Given the description of an element on the screen output the (x, y) to click on. 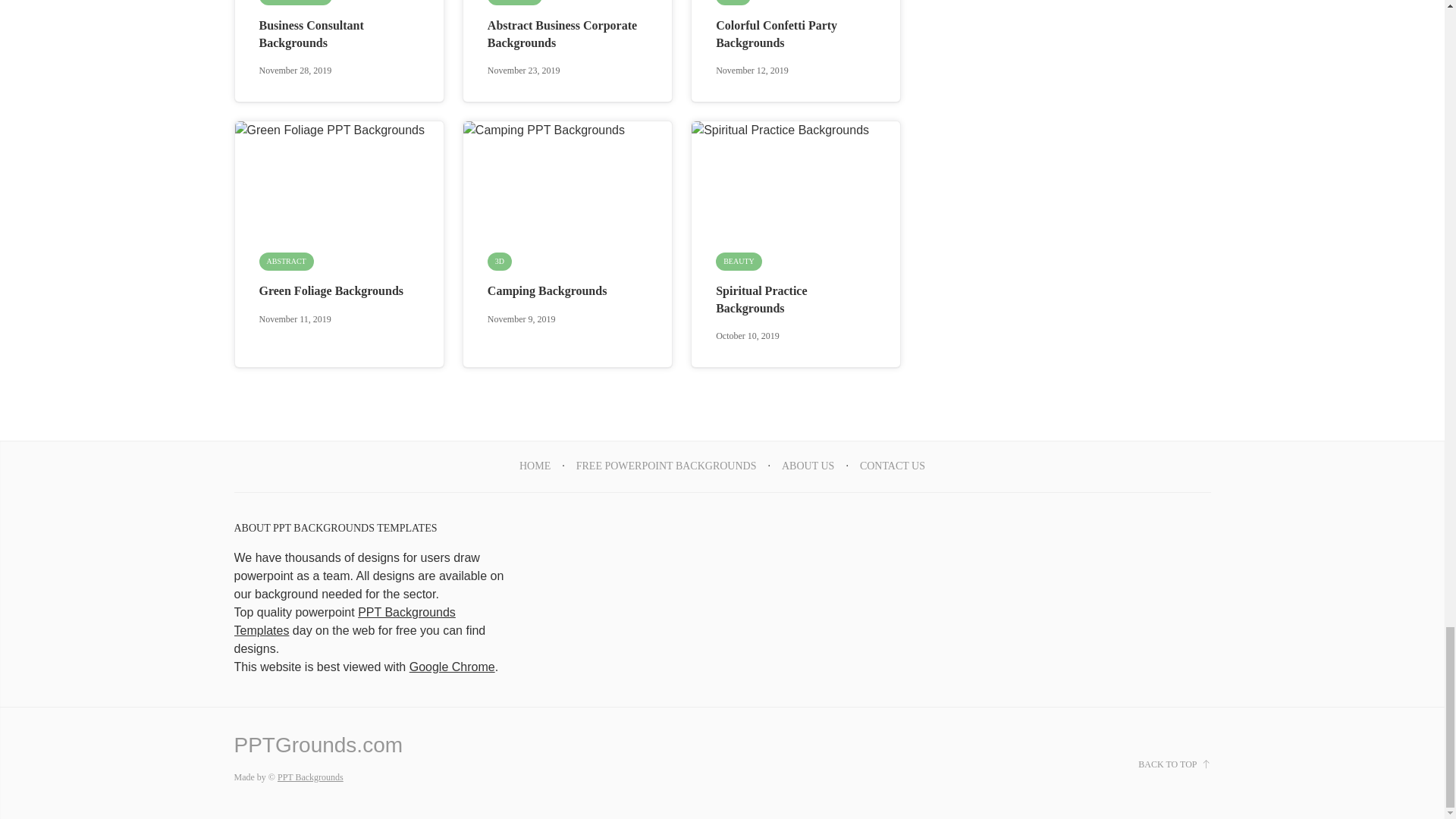
BACK TO TOP (1173, 764)
View all posts in Architecture (295, 2)
View all posts in Abstract (514, 2)
November 28, 2019 (295, 70)
